Given the description of an element on the screen output the (x, y) to click on. 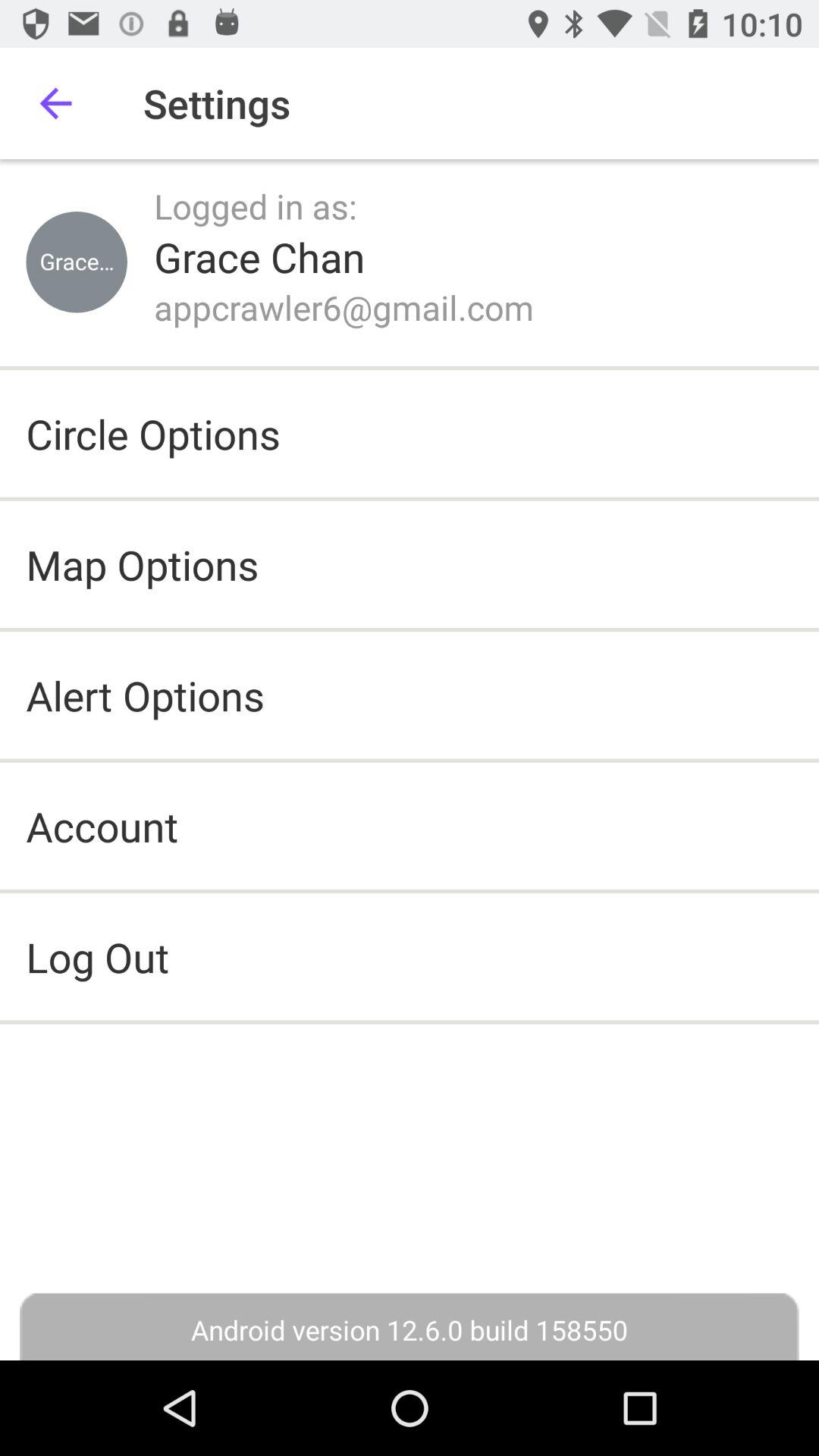
choose the circle options item (153, 433)
